Given the description of an element on the screen output the (x, y) to click on. 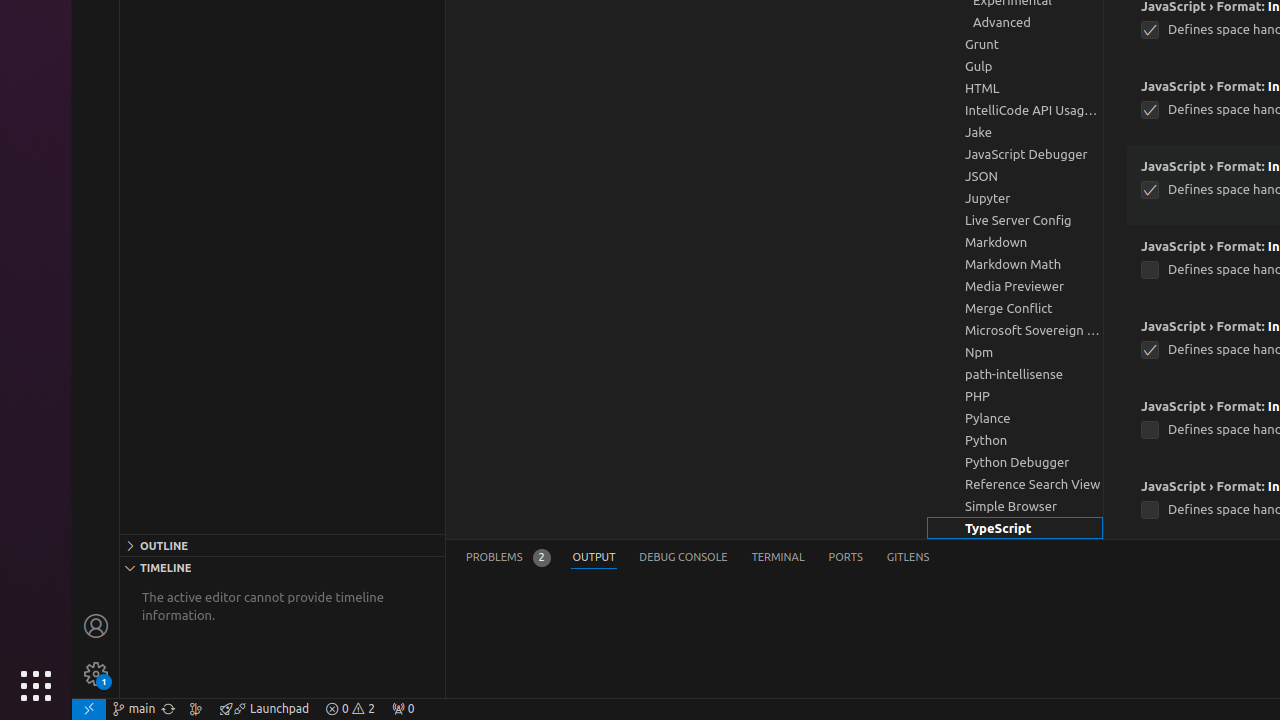
Markdown Math, group Element type: tree-item (1015, 263)
Manage - New Code update available. Element type: push-button (96, 674)
Output (Ctrl+K Ctrl+H) Element type: page-tab (594, 557)
HTML, group Element type: tree-item (1015, 88)
PHP, group Element type: tree-item (1015, 396)
